Given the description of an element on the screen output the (x, y) to click on. 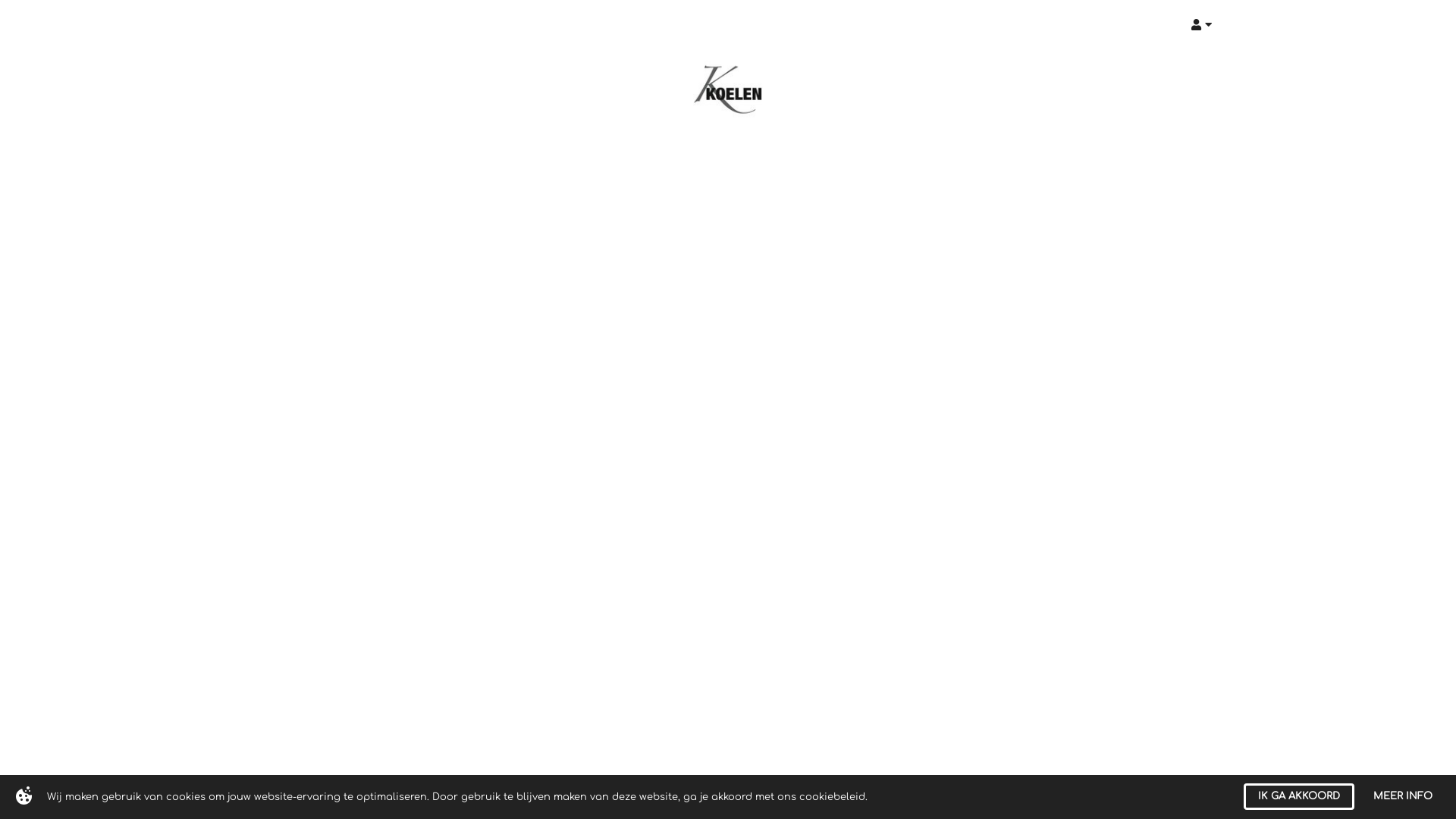
MEER INFO Element type: text (1402, 796)
IK GA AKKOORD Element type: text (1298, 796)
